Given the description of an element on the screen output the (x, y) to click on. 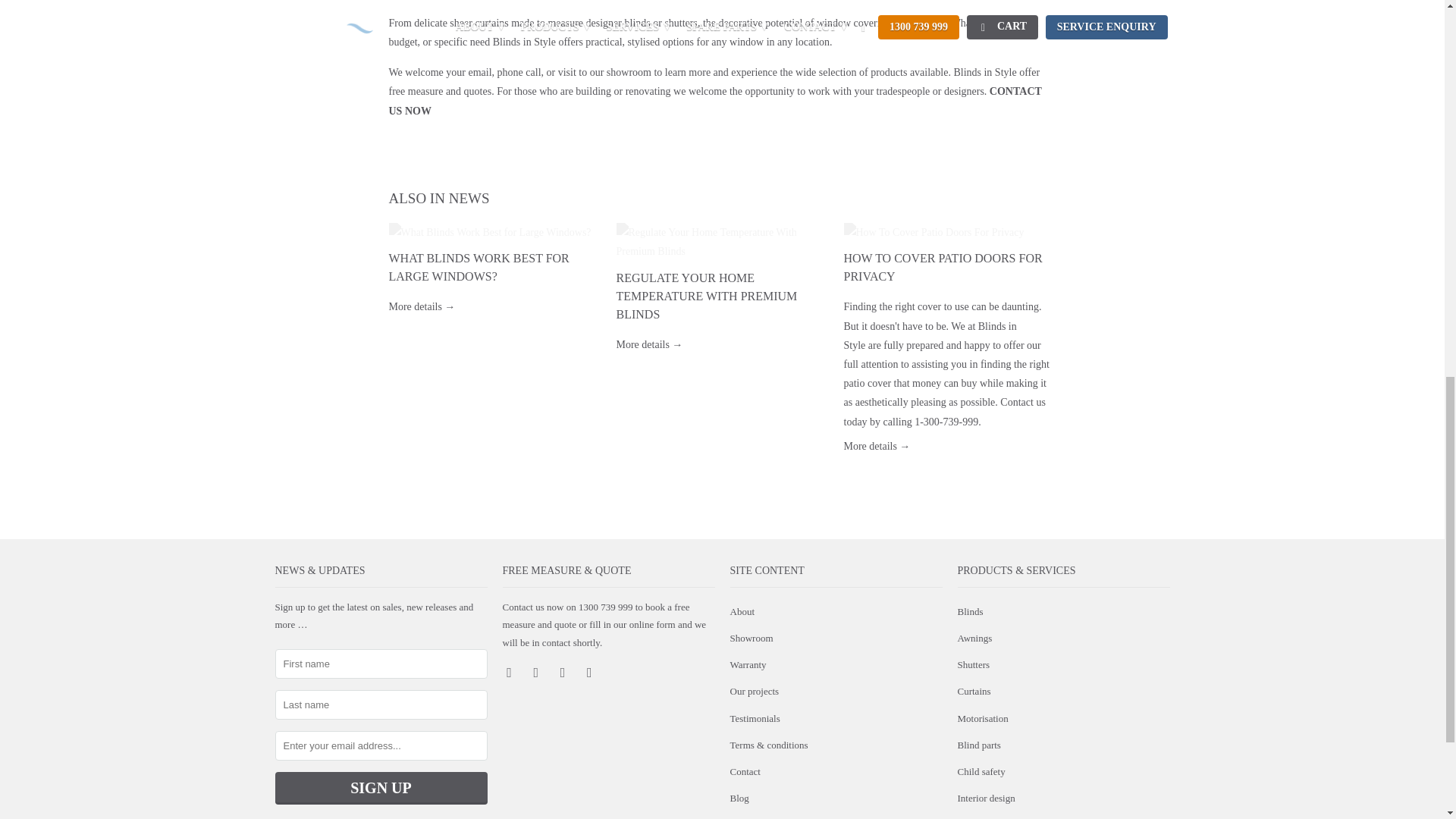
Blinds In Style on Pinterest (564, 671)
How To Cover Patio Doors For Privacy (942, 266)
Regulate Your Home Temperature With Premium Blinds (648, 344)
Blinds In Style on Facebook (510, 671)
Regulate Your Home Temperature With Premium Blinds (721, 241)
What Blinds Work Best for Large Windows? (421, 306)
What Blinds Work Best for Large Windows? (478, 266)
Blinds In Style on Instagram (590, 671)
What Blinds Work Best for Large Windows? (493, 231)
How To Cover Patio Doors For Privacy (876, 446)
